Given the description of an element on the screen output the (x, y) to click on. 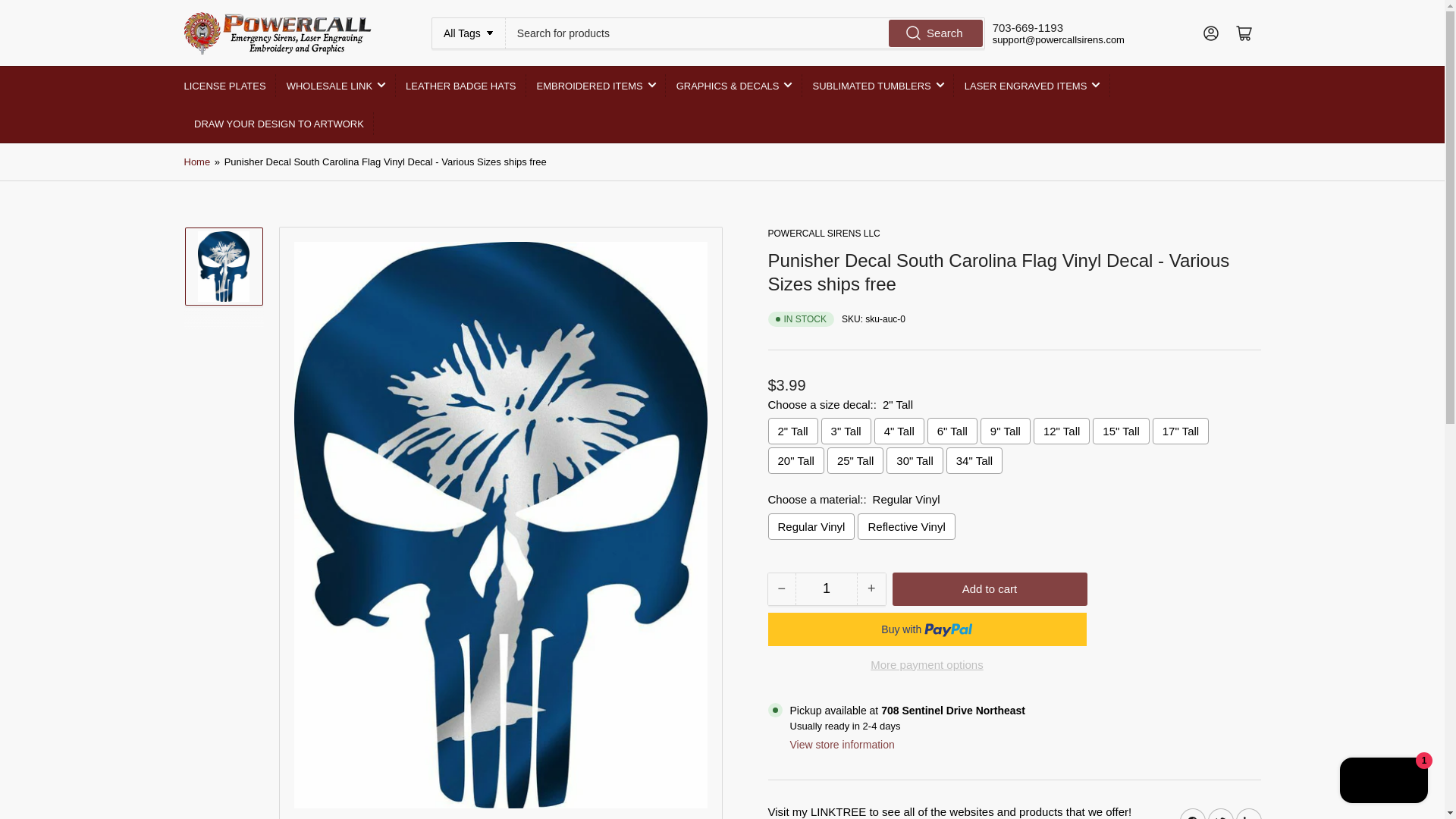
Load image 1 in gallery view (223, 277)
1 (825, 589)
Log in (1210, 32)
Load image 1 in gallery view (223, 522)
Open mini cart (1243, 32)
